Given the description of an element on the screen output the (x, y) to click on. 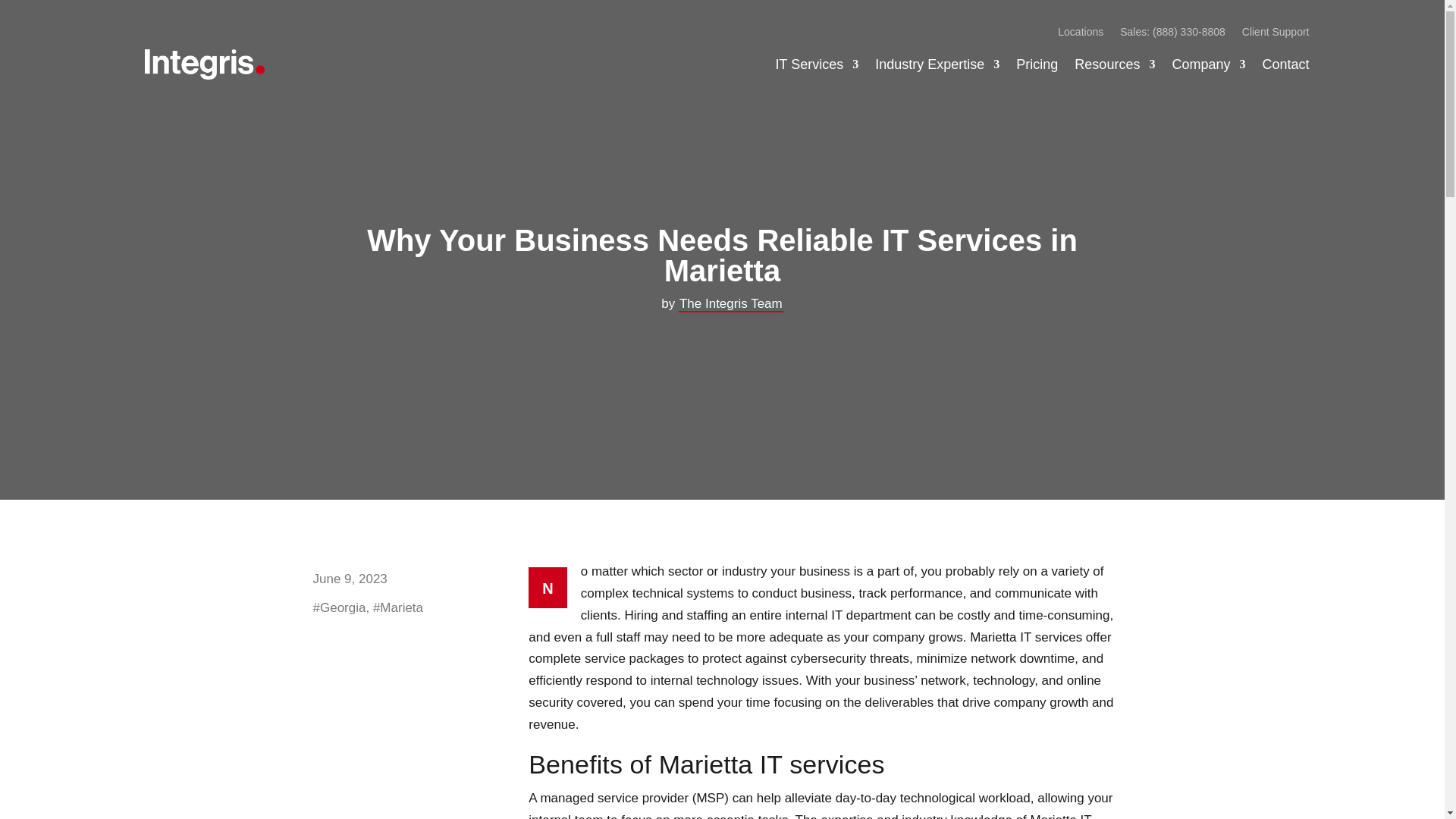
Industry Expertise (936, 64)
Resources (1114, 64)
Posts by The Integris Team (730, 304)
Company (1208, 64)
Locations (1080, 34)
IT Services (817, 64)
Client Support (1274, 34)
